Given the description of an element on the screen output the (x, y) to click on. 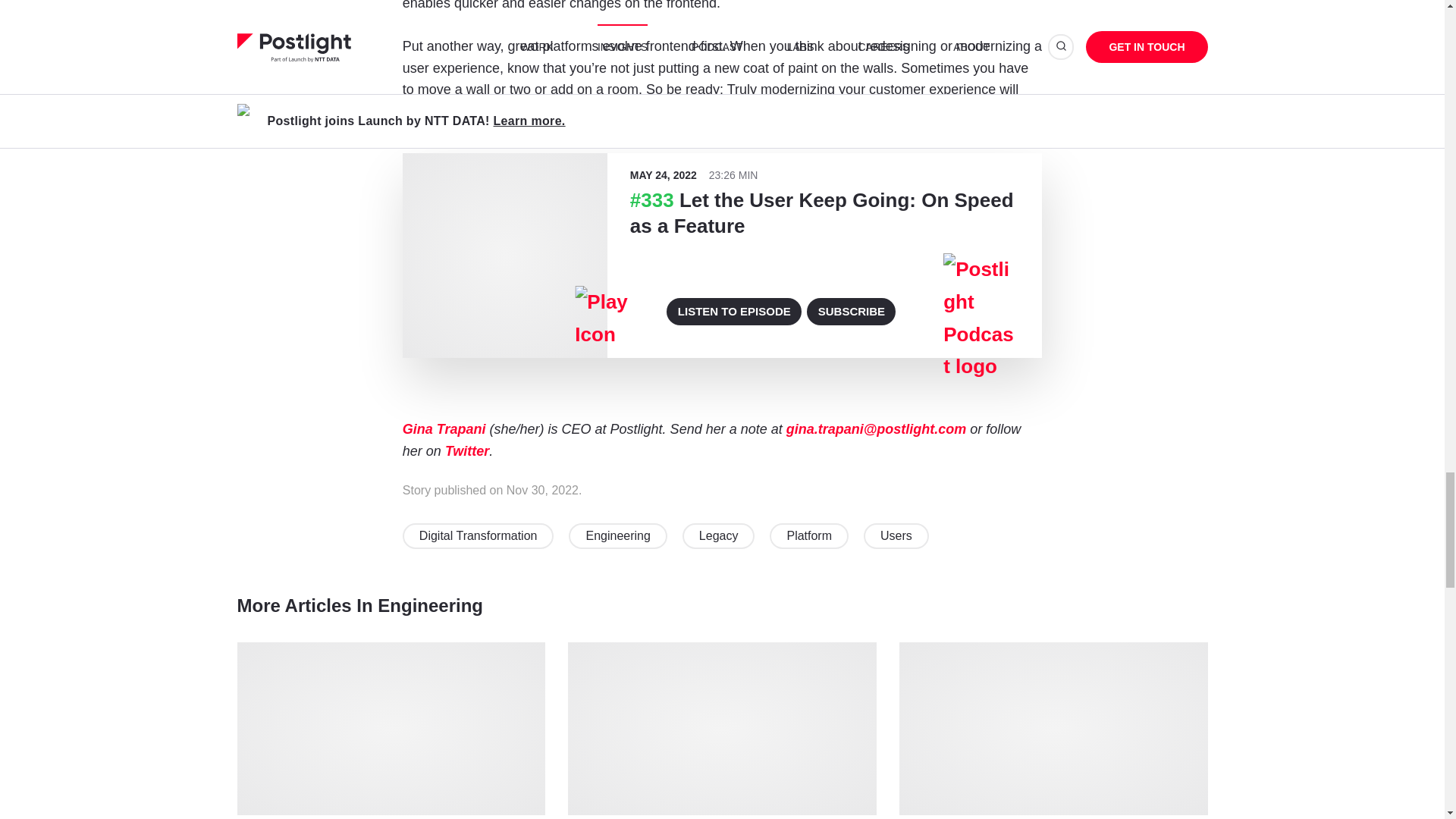
Platform (809, 535)
Digital Transformation (478, 535)
Legacy (718, 535)
Users (895, 535)
Twitter (467, 450)
SUBSCRIBE (850, 311)
LISTEN TO EPISODE (734, 311)
Engineering (617, 535)
